Given the description of an element on the screen output the (x, y) to click on. 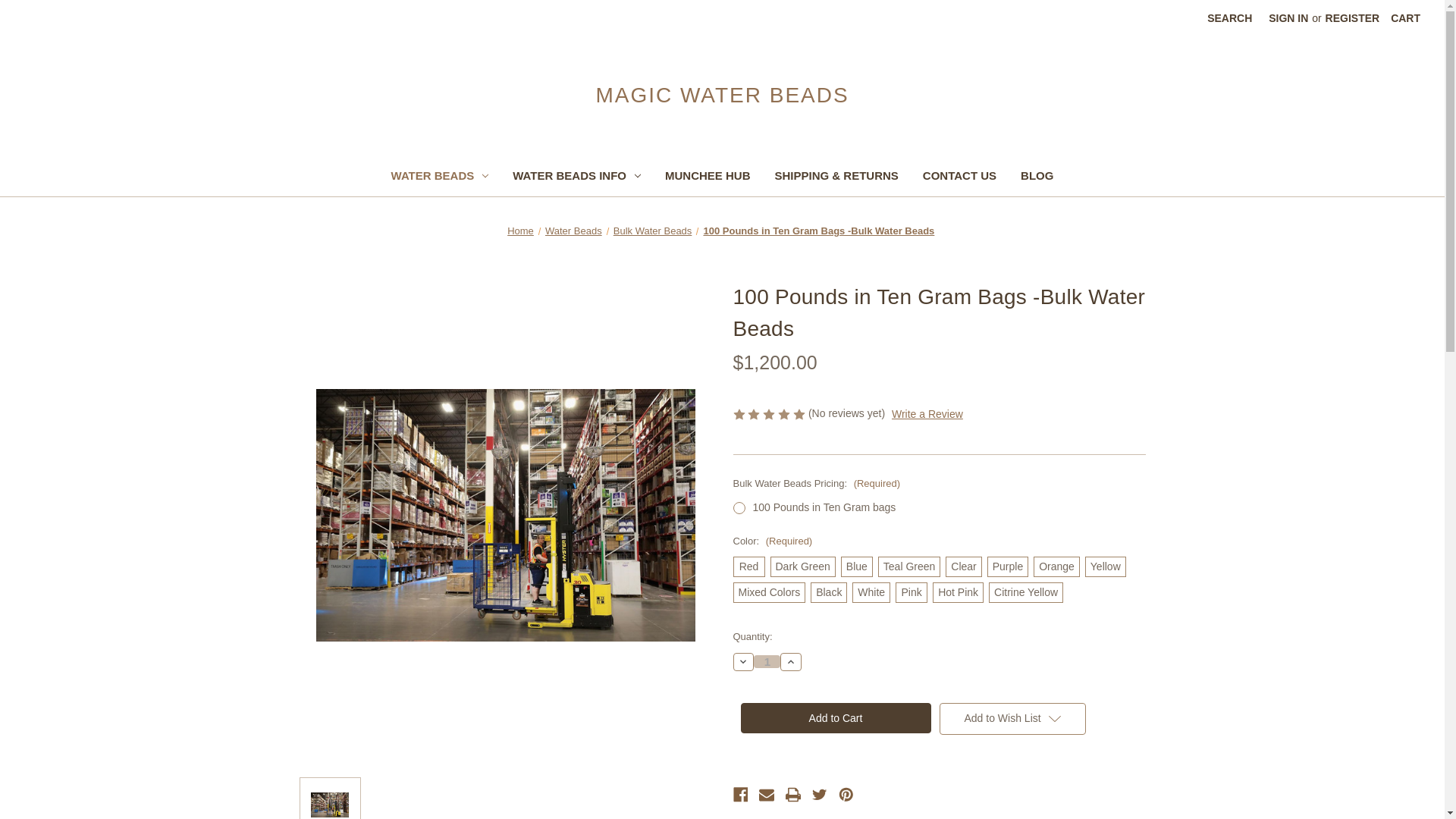
SEARCH (1229, 18)
BLOG (1037, 177)
Home (520, 230)
REGISTER (1353, 18)
Write a Review (926, 414)
WATER BEADS (439, 177)
100 Pounds in Ten Gram Bags -Bulk Water Beads (818, 230)
Water Beads (573, 230)
PayPal Message 1 (938, 394)
Pinterest (845, 794)
